Given the description of an element on the screen output the (x, y) to click on. 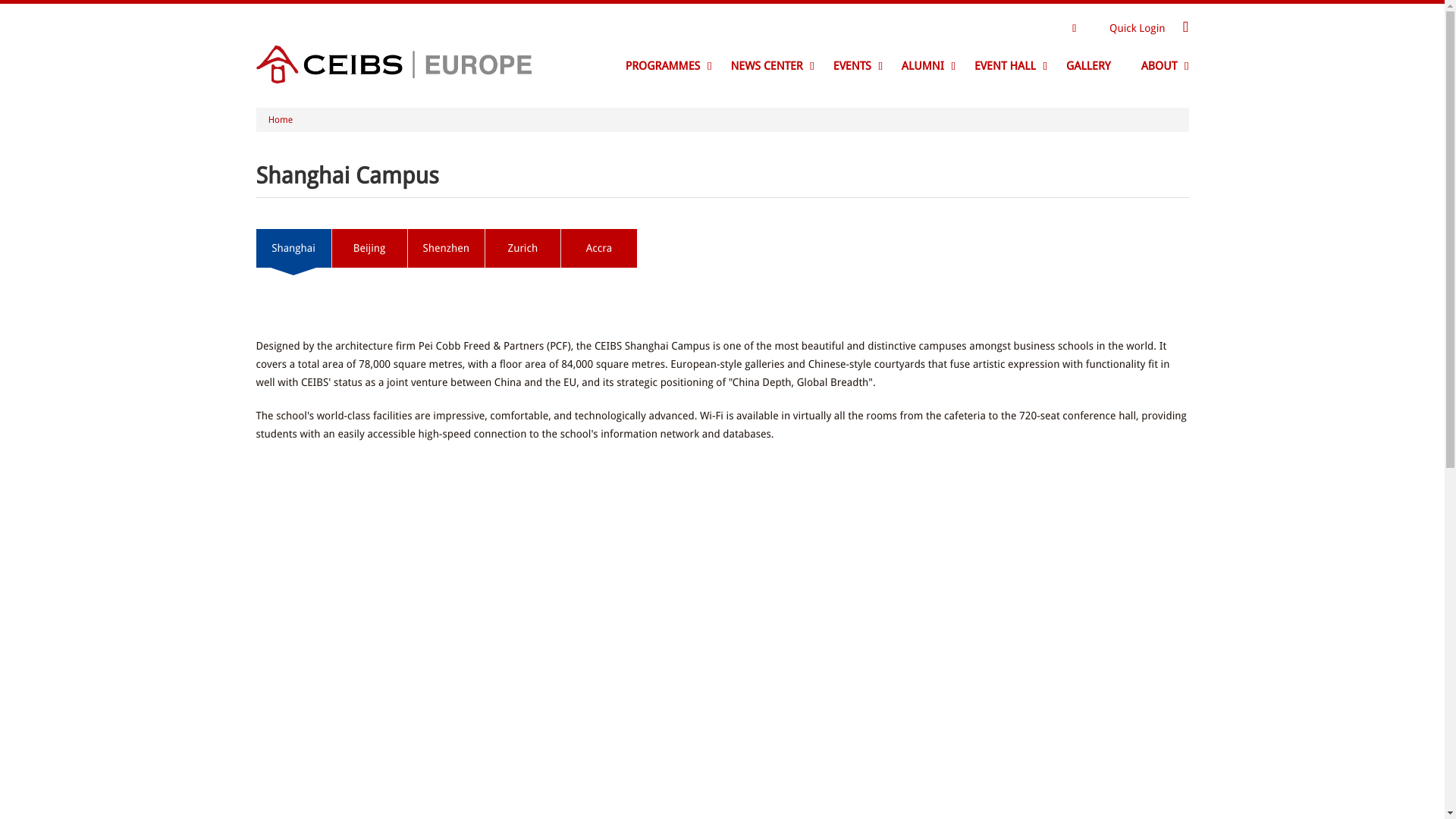
Shenzhen (445, 248)
Shanghai Beijing Shenzhen Zurich Accra (722, 248)
Shanghai (293, 248)
Quick Login (1137, 28)
Zurich (522, 248)
Beijing (369, 248)
Shanghai Beijing Shenzhen Zurich Accra (446, 248)
Accra (598, 248)
